Given the description of an element on the screen output the (x, y) to click on. 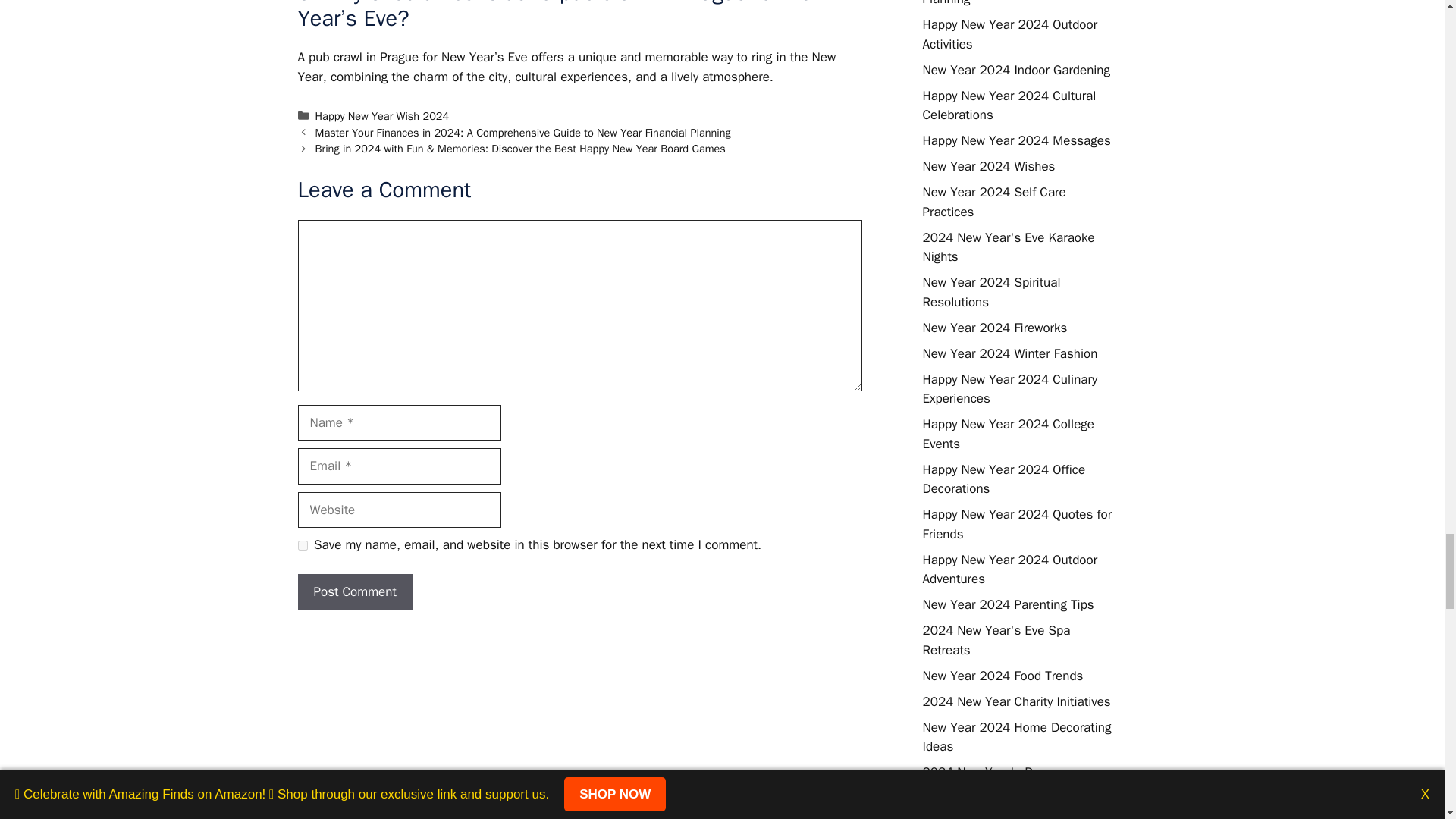
Post Comment (354, 592)
Happy New Year Wish 2024 (382, 115)
Post Comment (354, 592)
yes (302, 545)
